Given the description of an element on the screen output the (x, y) to click on. 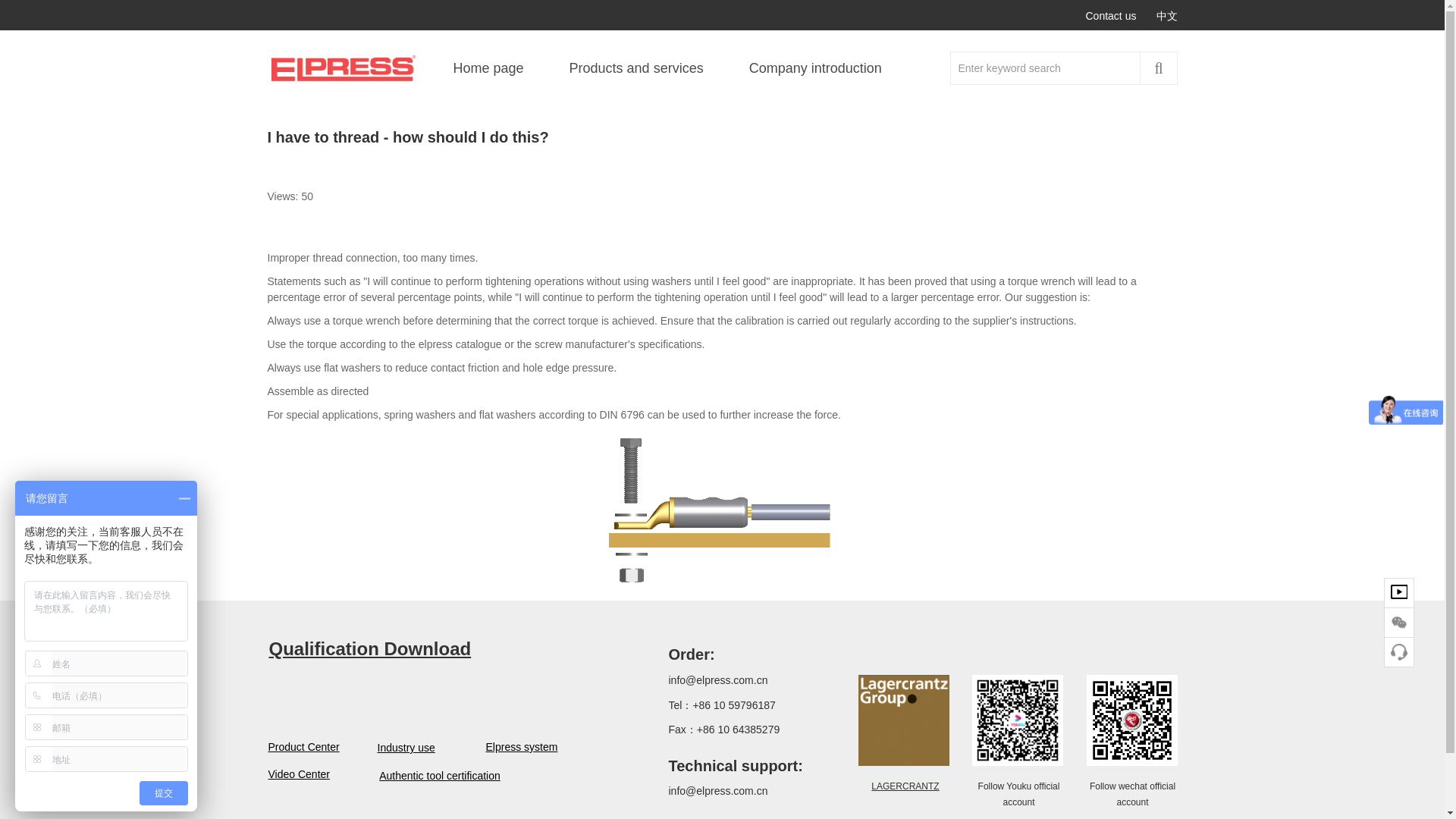
Contact us (1112, 16)
Company introduction (815, 67)
Industry use (403, 747)
Product Center (294, 747)
Home page (488, 67)
Video Center (294, 774)
Authentic tool certification (439, 775)
Products and services (636, 67)
LAGERCRANTZ (904, 785)
Elpress system (518, 747)
Qualification Download (368, 648)
